Given the description of an element on the screen output the (x, y) to click on. 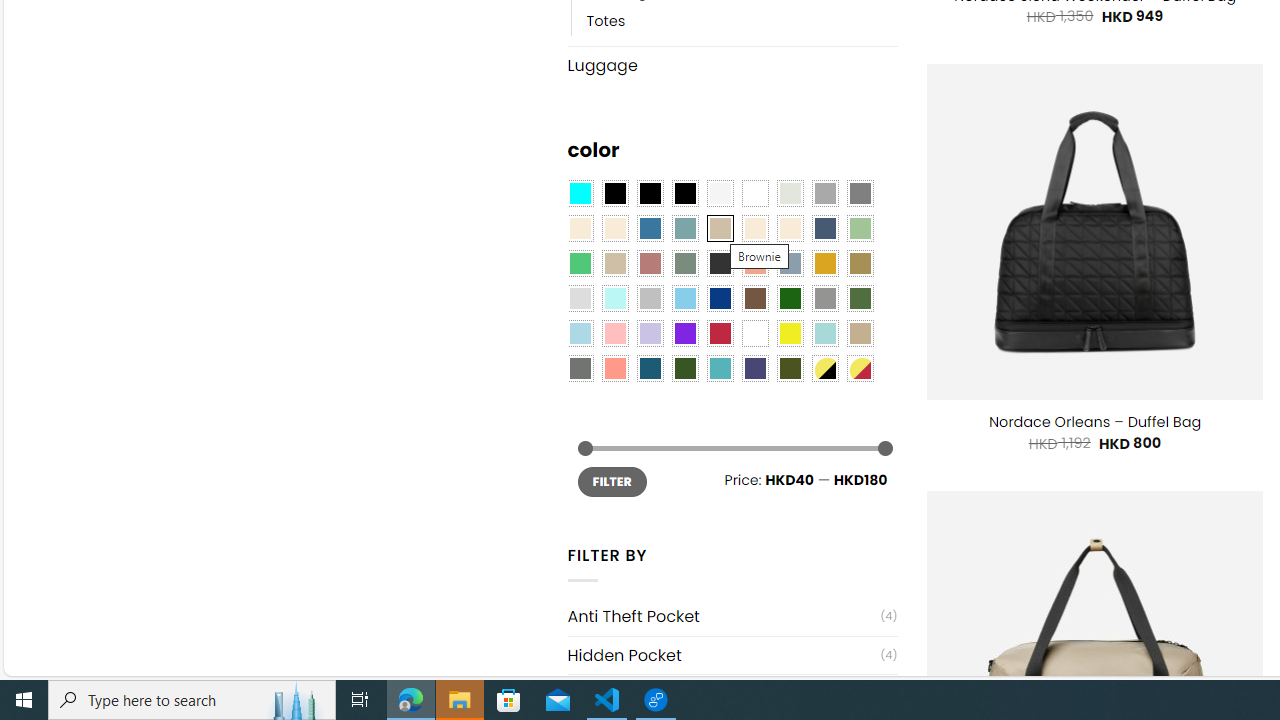
Brownie (719, 228)
Army Green (789, 368)
Blue Sage (684, 228)
Purple (684, 334)
Anti Theft Pocket (723, 616)
Mint (614, 298)
